Given the description of an element on the screen output the (x, y) to click on. 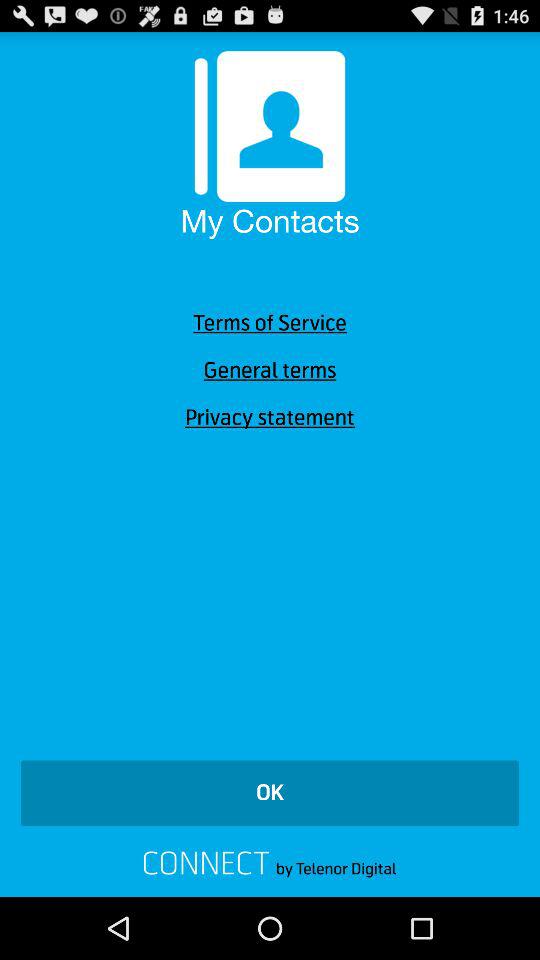
turn on terms of service (270, 323)
